Given the description of an element on the screen output the (x, y) to click on. 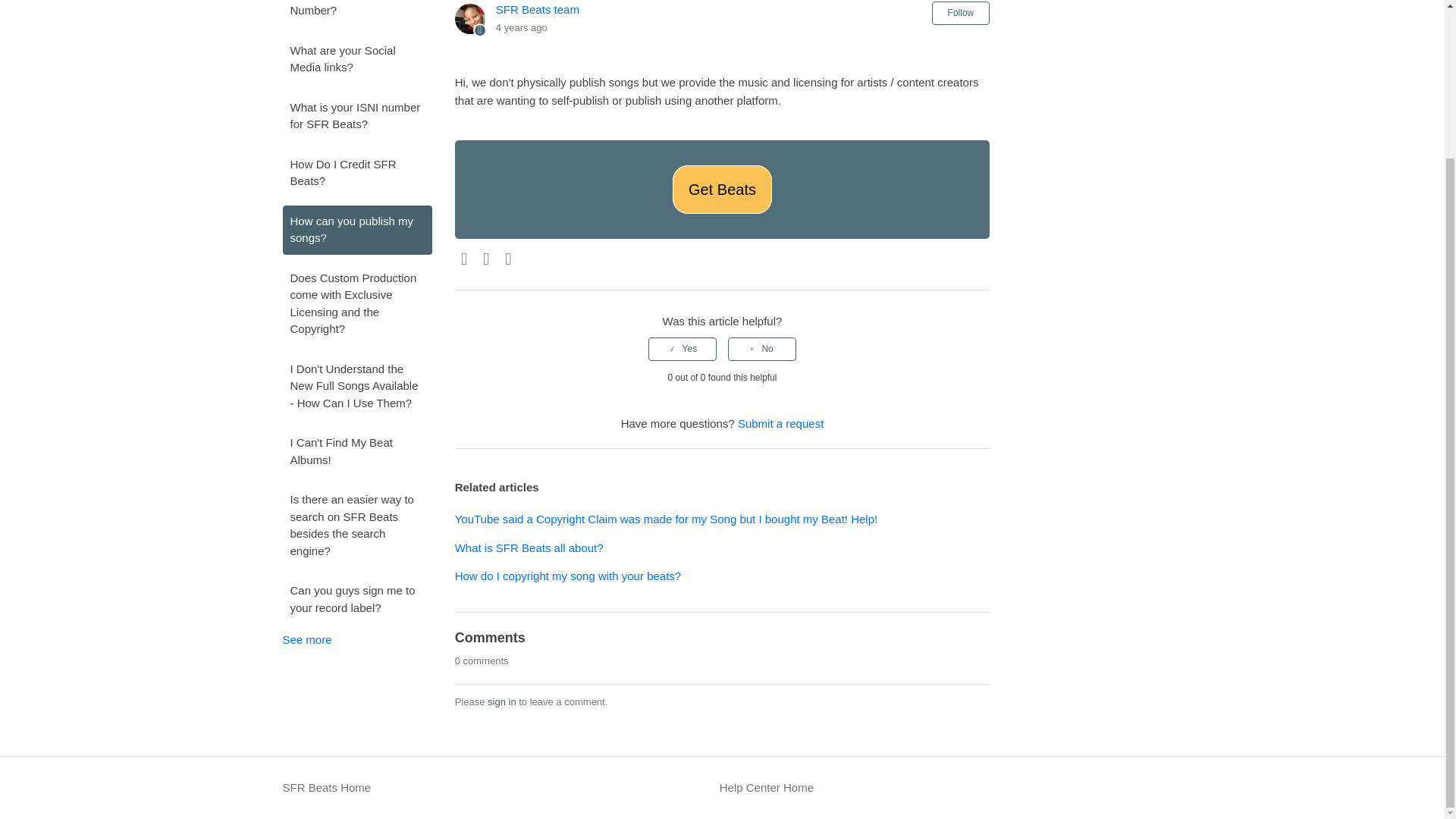
See more (306, 639)
No (762, 348)
Yes (681, 348)
How do I copyright my song with your beats? (567, 575)
What are your Social Media links? (356, 59)
sign in (501, 701)
Twitter (486, 259)
Home (766, 787)
